Given the description of an element on the screen output the (x, y) to click on. 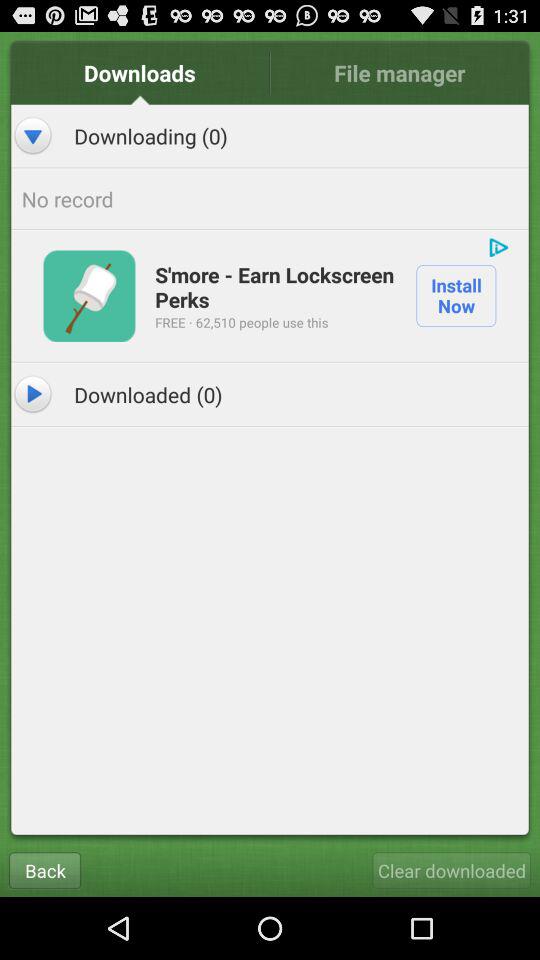
turn on item to the left of the install now item (275, 286)
